Given the description of an element on the screen output the (x, y) to click on. 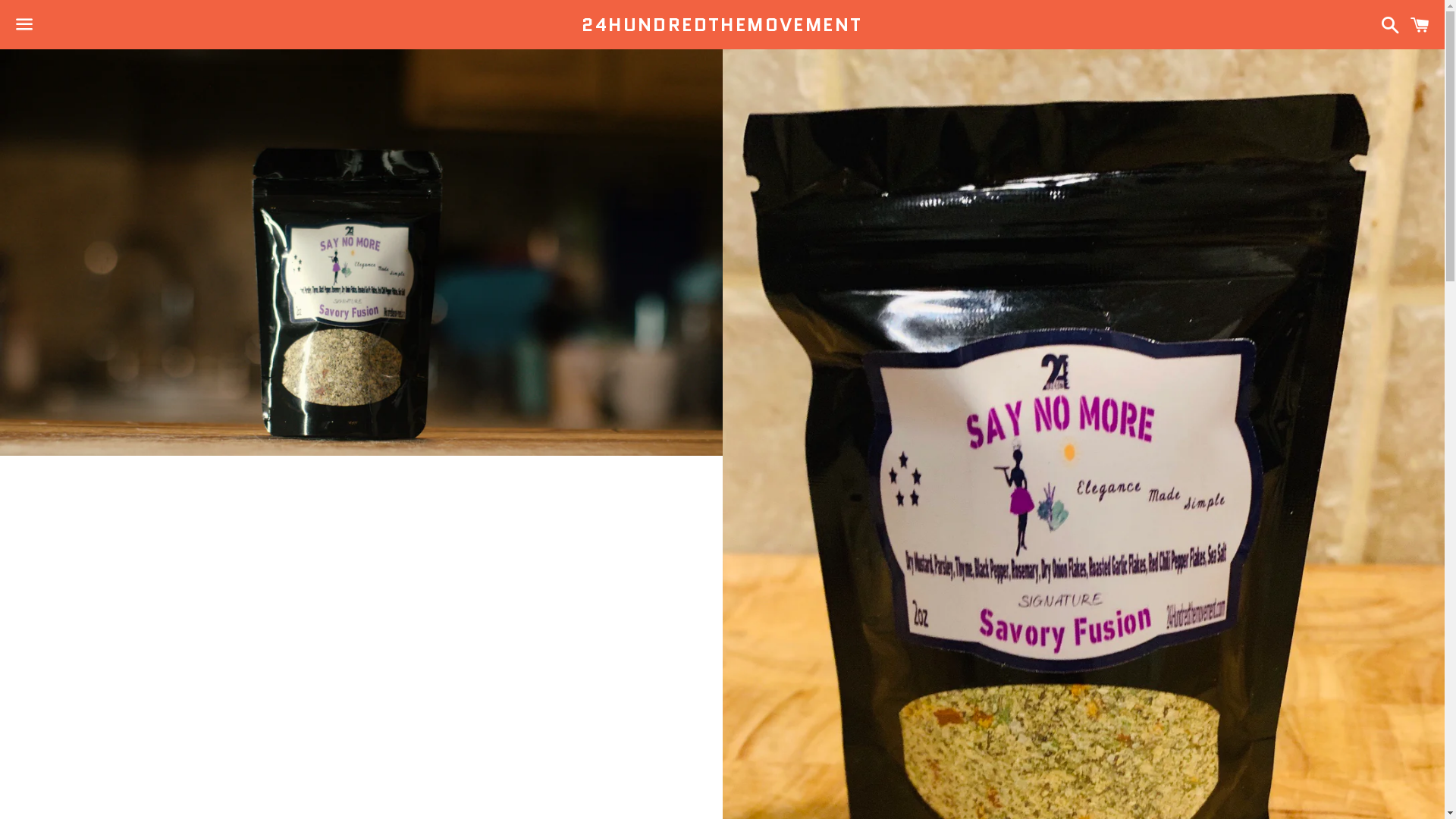
24HUNDREDTHEMOVEMENT Element type: text (721, 24)
Search Element type: text (1386, 24)
Cart Element type: text (1419, 24)
Menu Element type: text (24, 24)
